Given the description of an element on the screen output the (x, y) to click on. 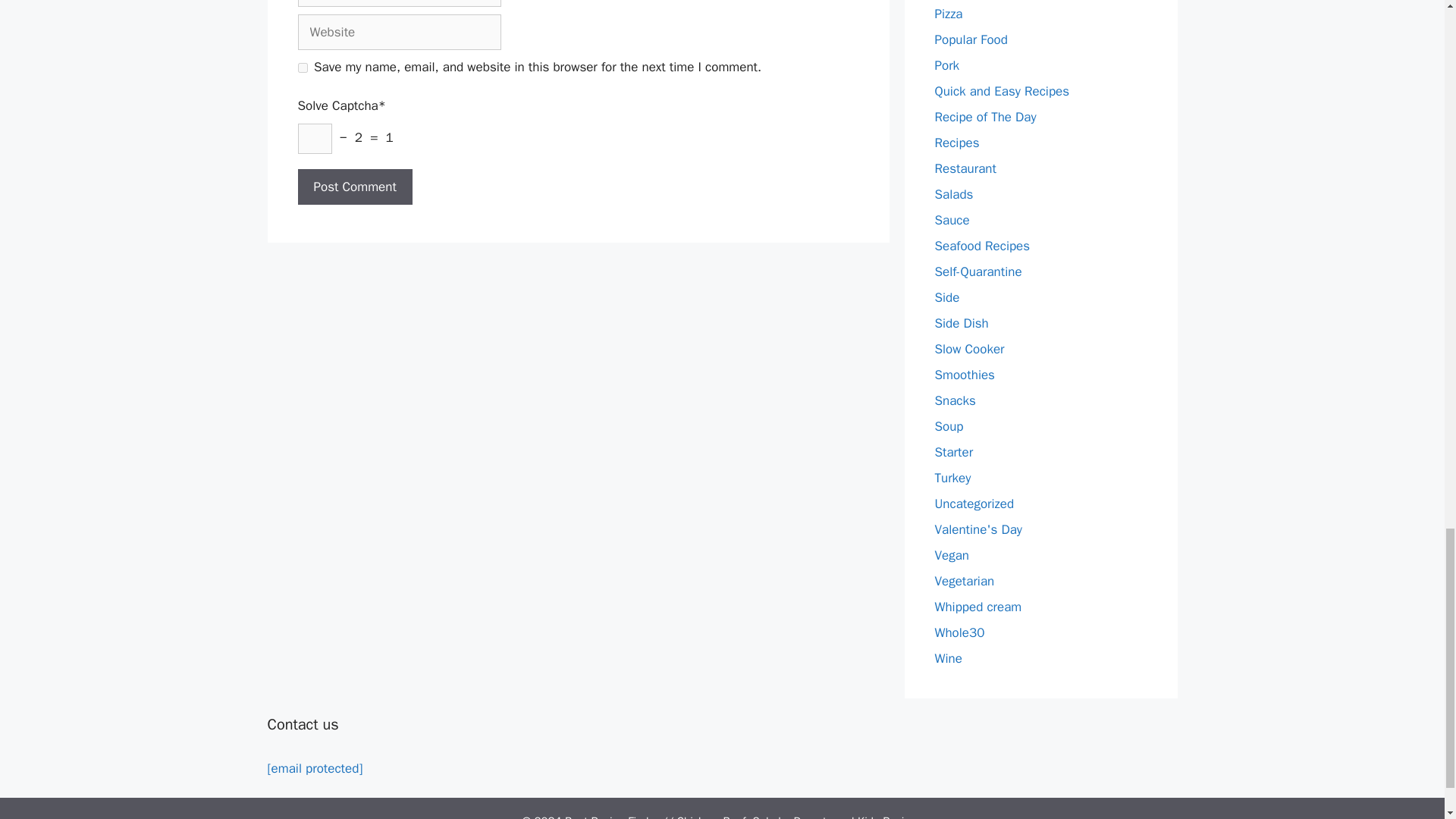
Post Comment (354, 186)
Post Comment (354, 186)
yes (302, 67)
